Given the description of an element on the screen output the (x, y) to click on. 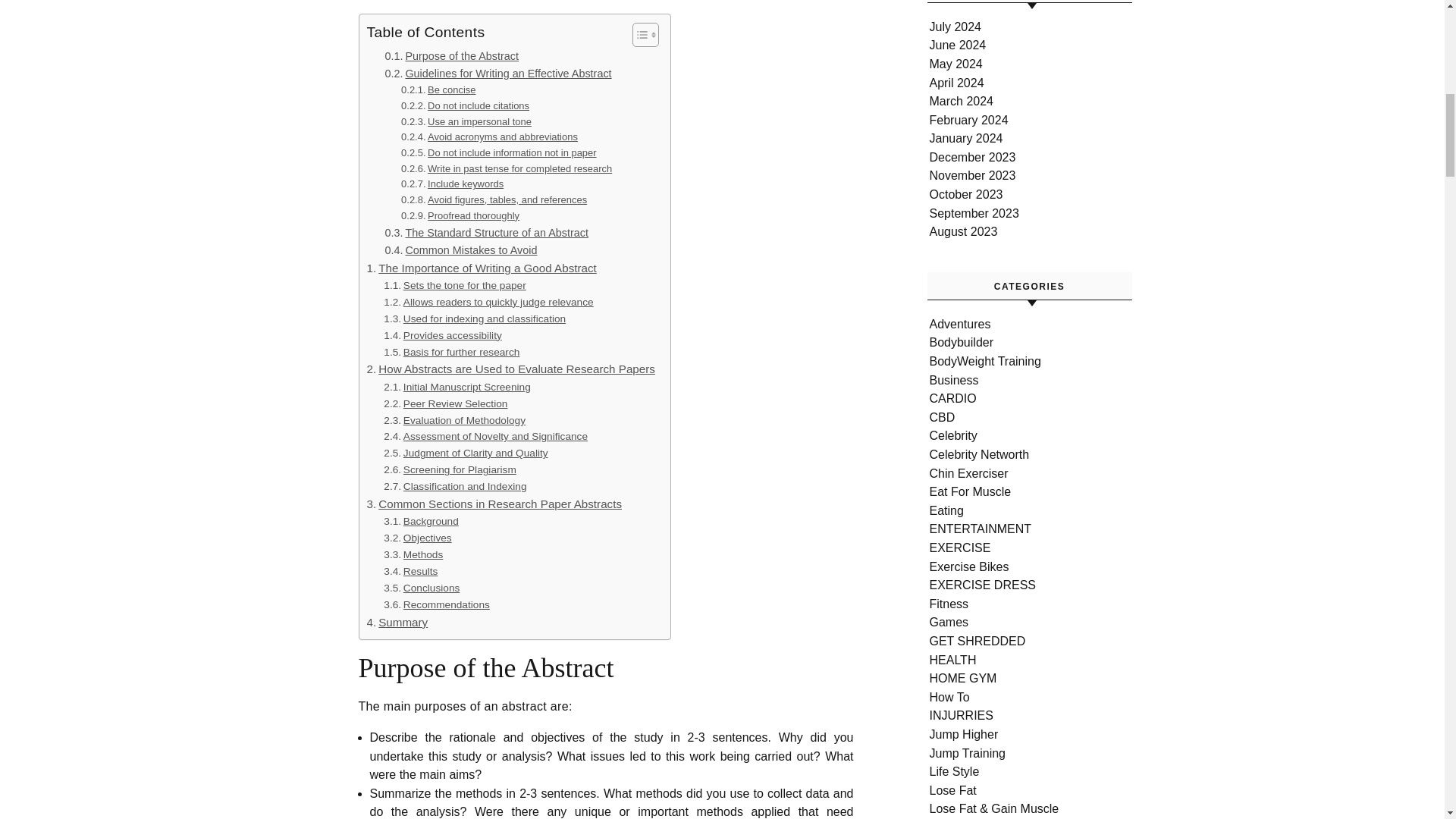
Do not include citations (465, 106)
The Importance of Writing a Good Abstract (481, 268)
Avoid figures, tables, and references (493, 200)
Do not include citations (465, 106)
Use an impersonal tone (466, 122)
Purpose of the Abstract (451, 56)
Write in past tense for completed research (506, 169)
Include keywords (452, 184)
Purpose of the Abstract (451, 56)
Avoid acronyms and abbreviations (489, 137)
Avoid figures, tables, and references (493, 200)
Do not include information not in paper (498, 153)
Guidelines for Writing an Effective Abstract (498, 73)
Write in past tense for completed research (506, 169)
Guidelines for Writing an Effective Abstract (498, 73)
